Given the description of an element on the screen output the (x, y) to click on. 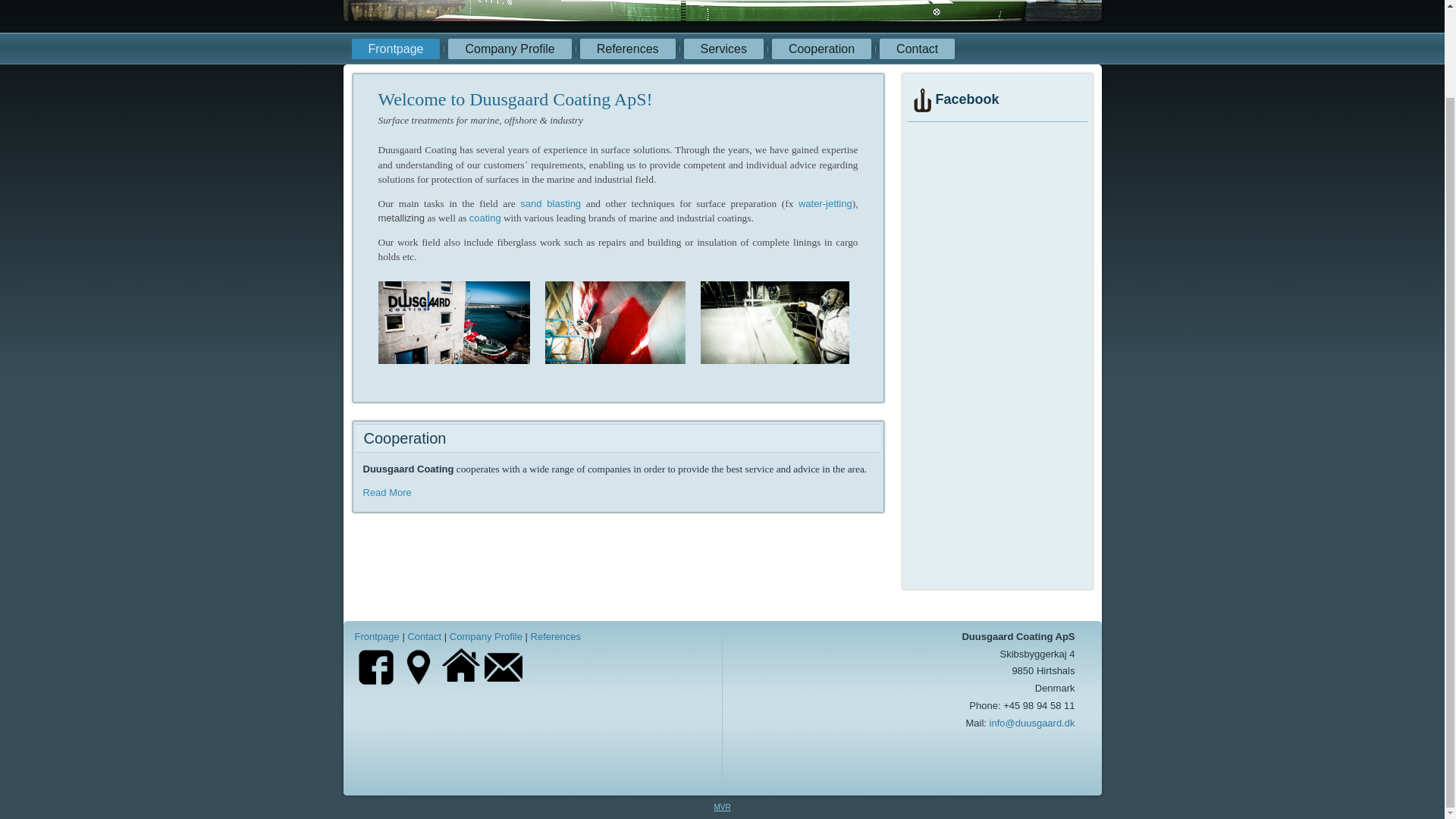
Sand Blasting (549, 202)
Coating (484, 217)
Company Profile (509, 48)
Water-jetting (824, 202)
Frontpage (396, 48)
References (627, 48)
Metallizing (401, 217)
Services (723, 48)
